Given the description of an element on the screen output the (x, y) to click on. 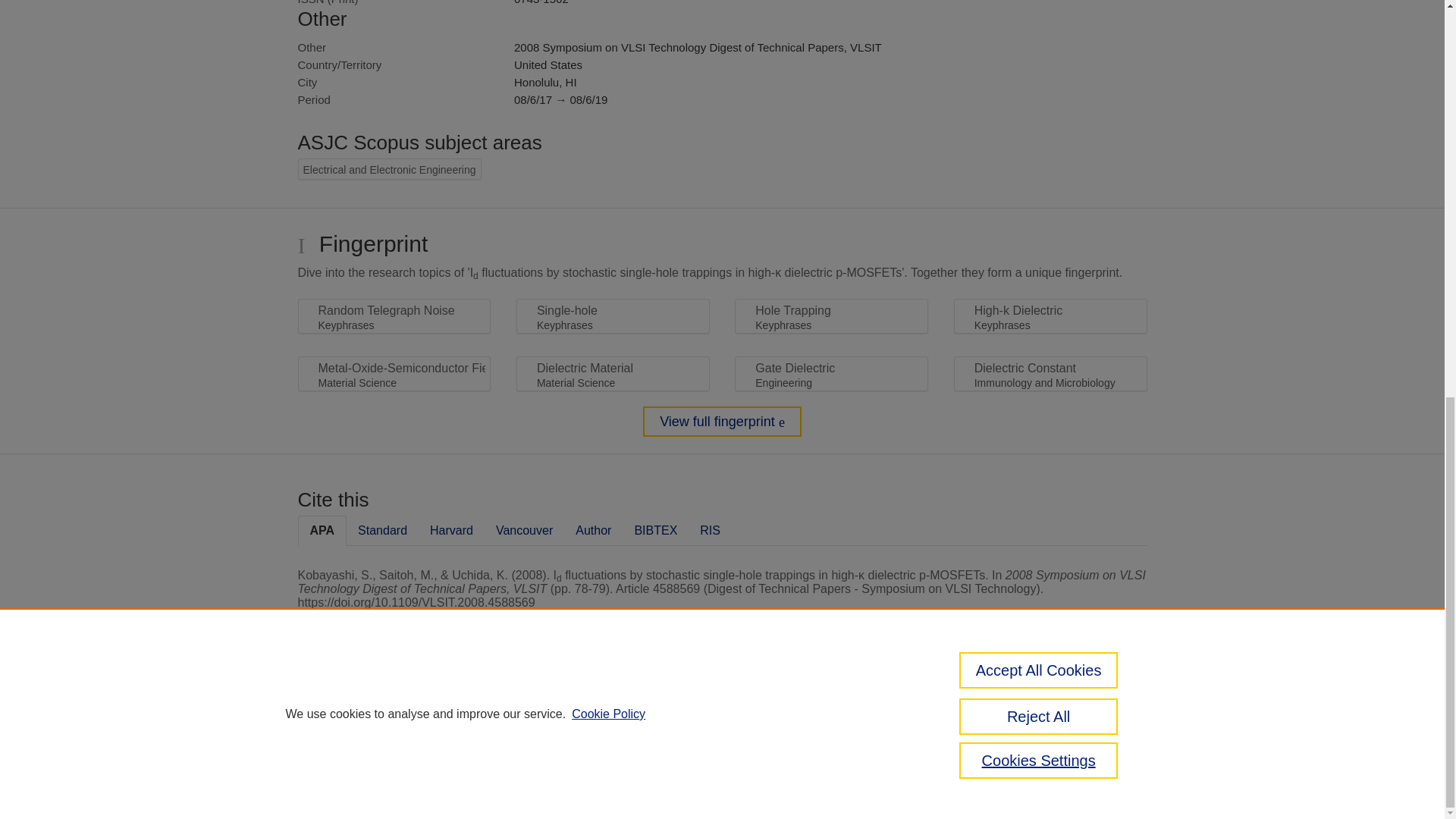
Cookies Settings (334, 781)
Pure (362, 708)
Scopus (394, 708)
View full fingerprint (722, 421)
About web accessibility (1088, 713)
Elsevier B.V. (506, 728)
Report vulnerability (1088, 745)
use of cookies (796, 760)
